Given the description of an element on the screen output the (x, y) to click on. 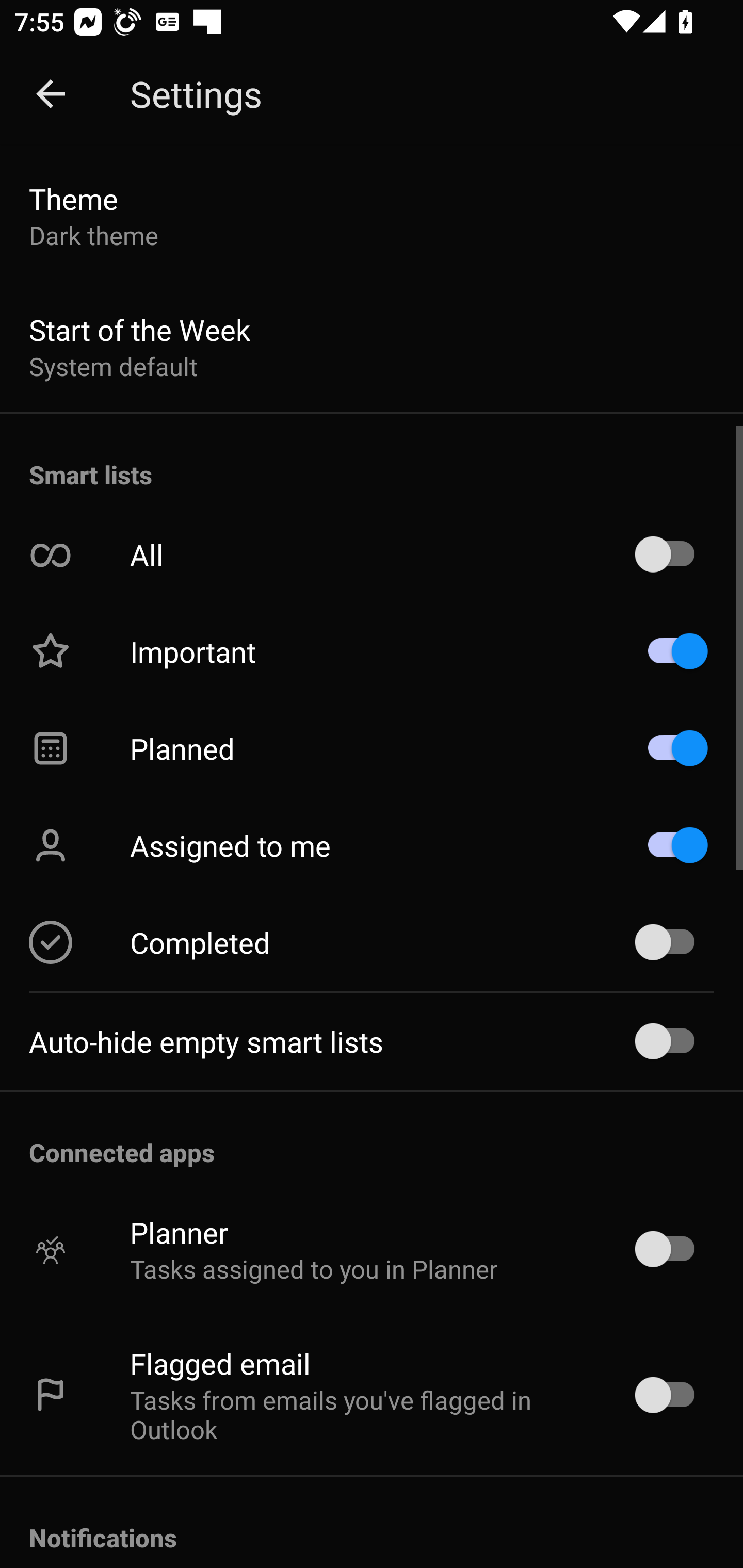
Navigate up (50, 93)
Theme Dark theme (371, 215)
Start of the Week System default (371, 346)
All (371, 554)
Important (371, 651)
Planned (371, 747)
Assigned to me (371, 844)
Completed (371, 941)
Auto-hide empty smart lists (371, 1040)
Planner Tasks assigned to you in Planner (371, 1248)
